Given the description of an element on the screen output the (x, y) to click on. 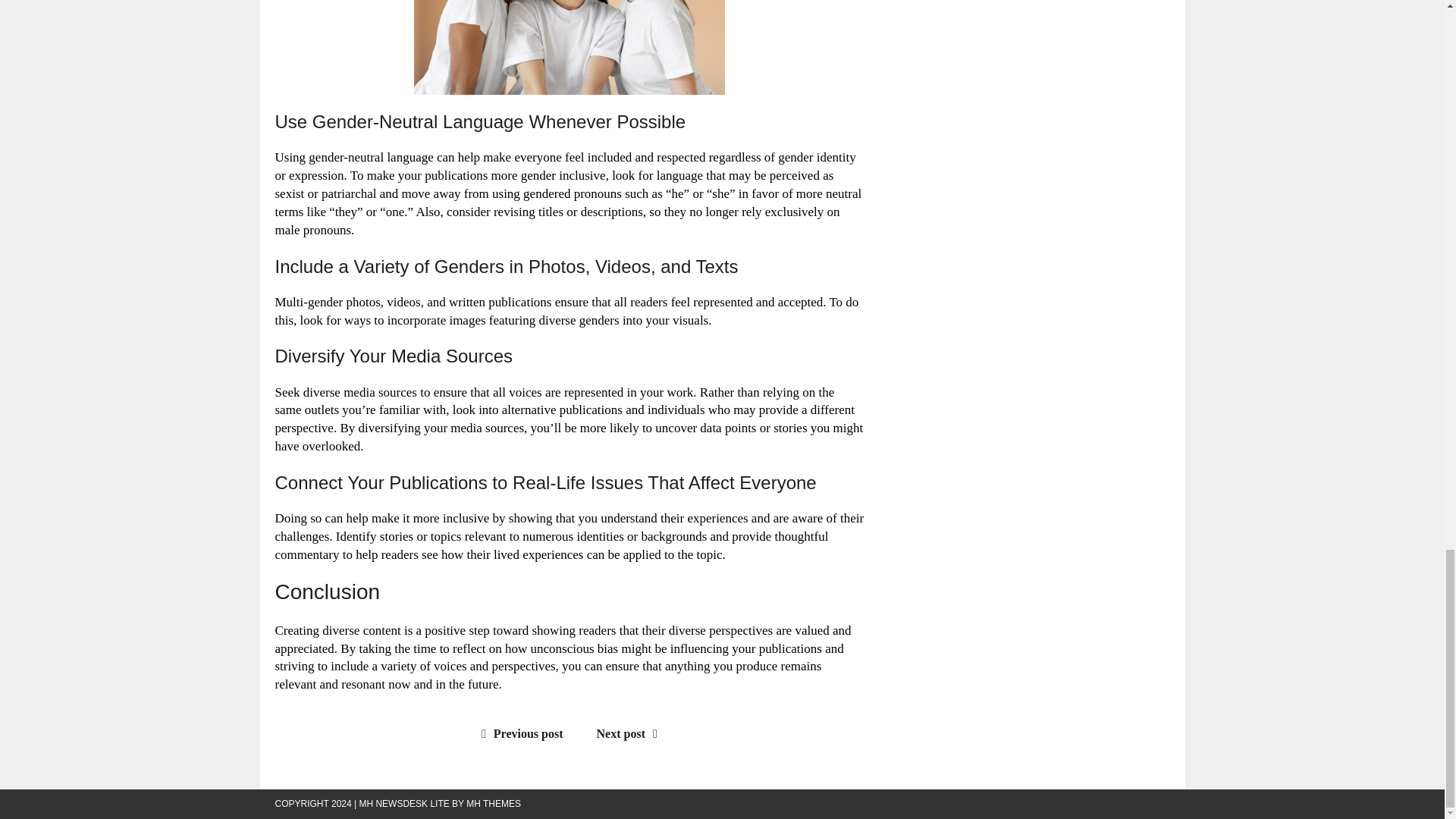
Next post (630, 733)
Previous post (518, 733)
